Given the description of an element on the screen output the (x, y) to click on. 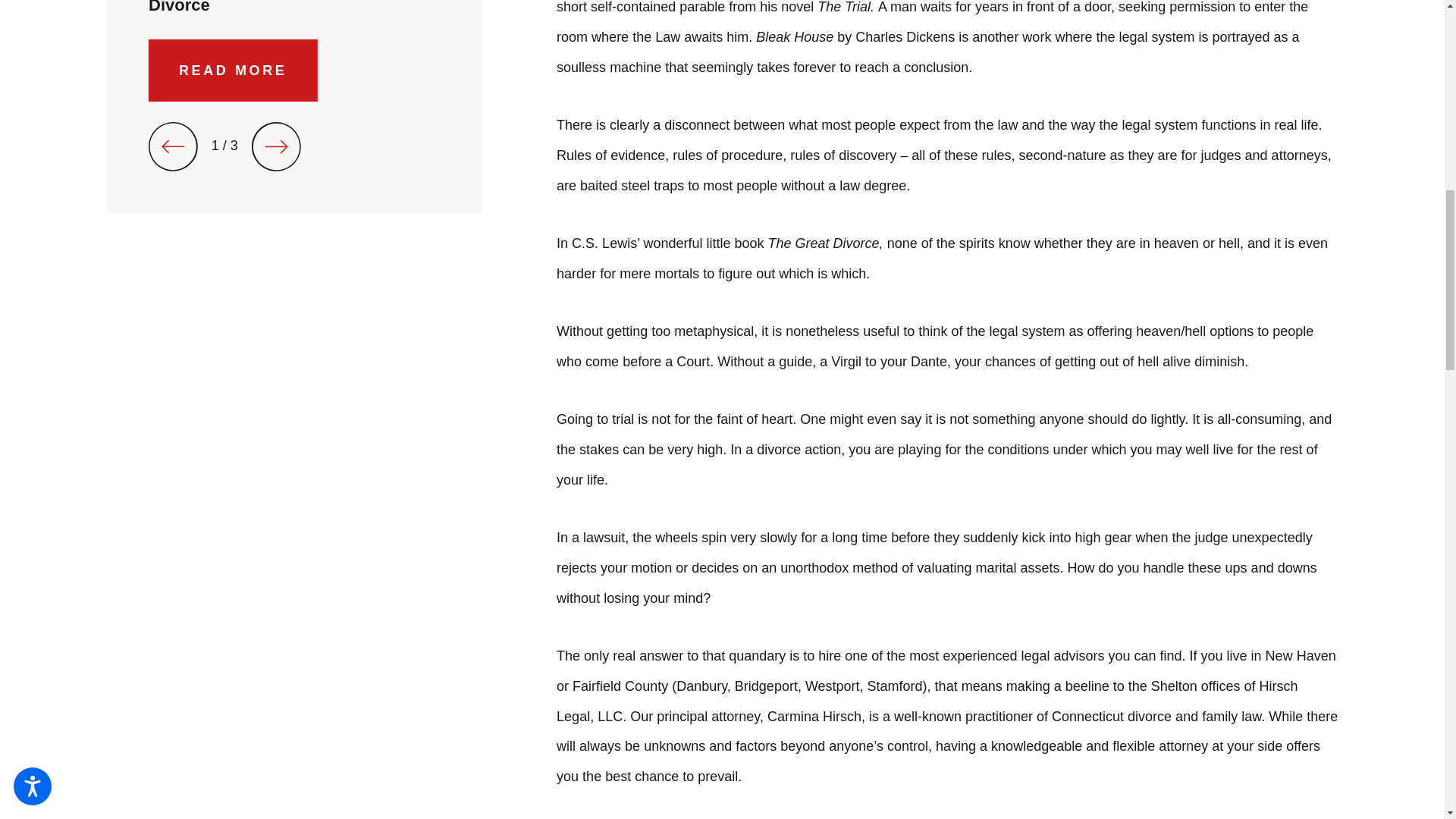
View previous item (173, 146)
View next item (276, 146)
